Given the description of an element on the screen output the (x, y) to click on. 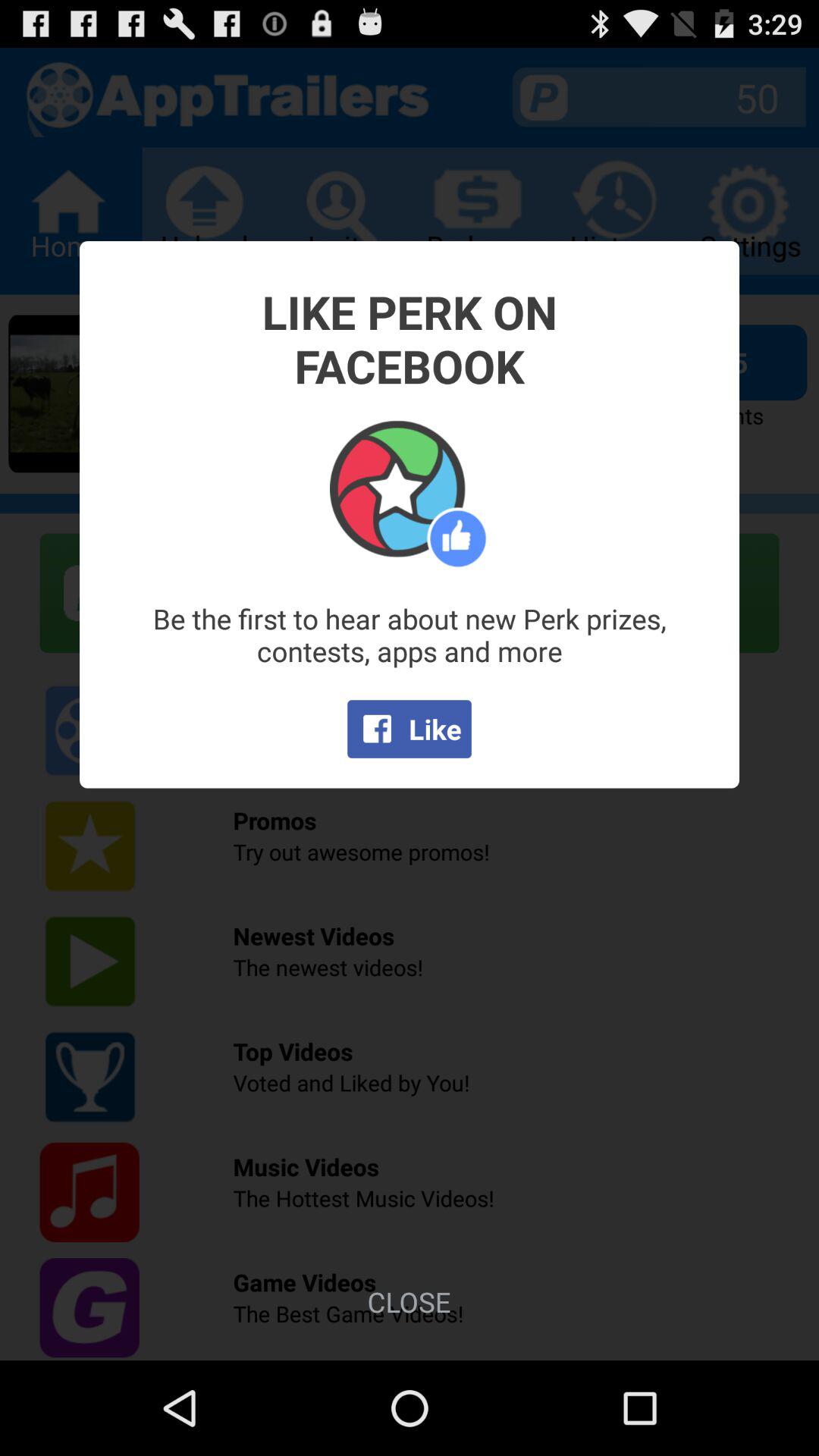
click the item below the like (409, 1301)
